Given the description of an element on the screen output the (x, y) to click on. 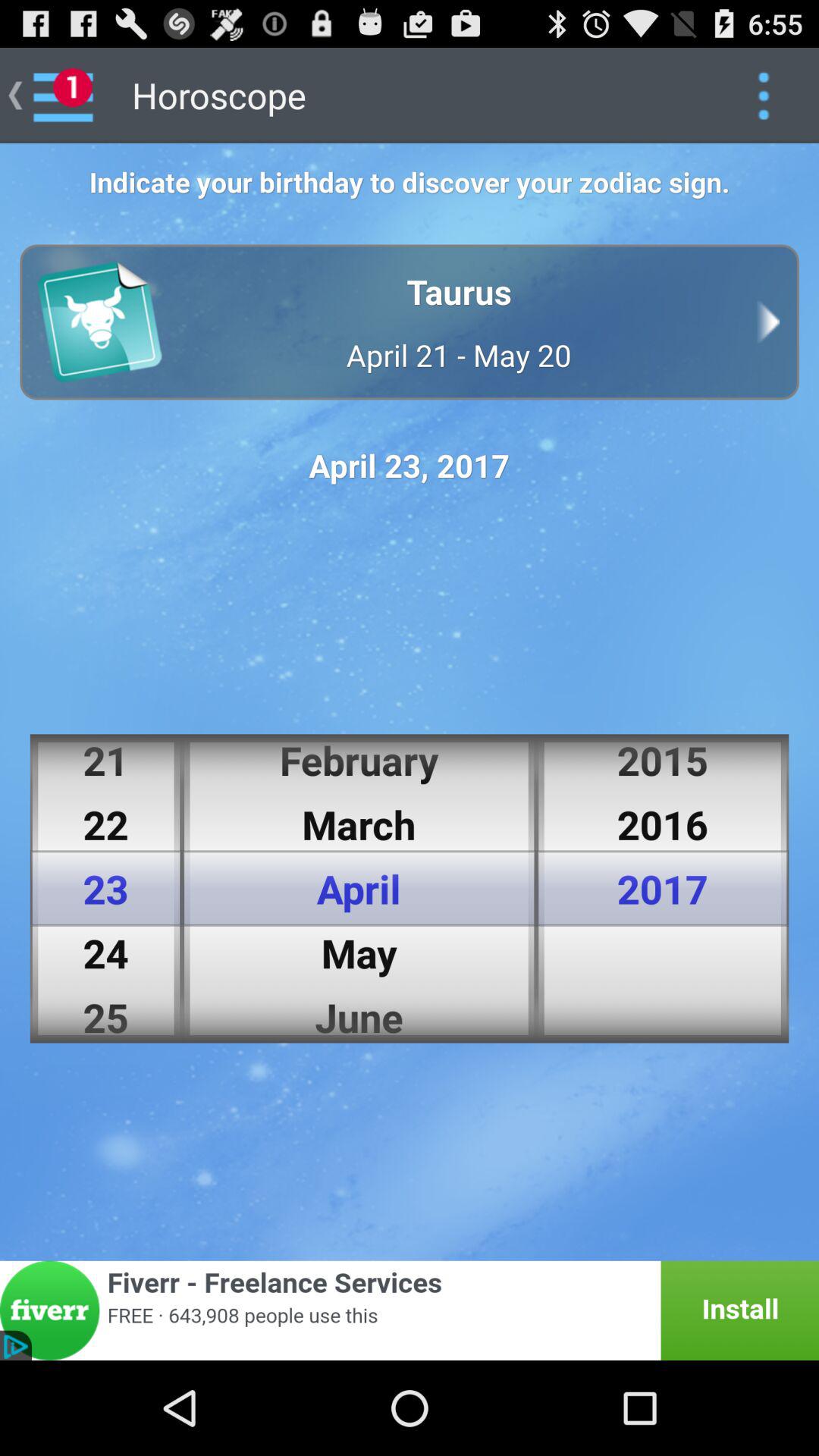
choose app to the right of horoscope app (763, 95)
